Given the description of an element on the screen output the (x, y) to click on. 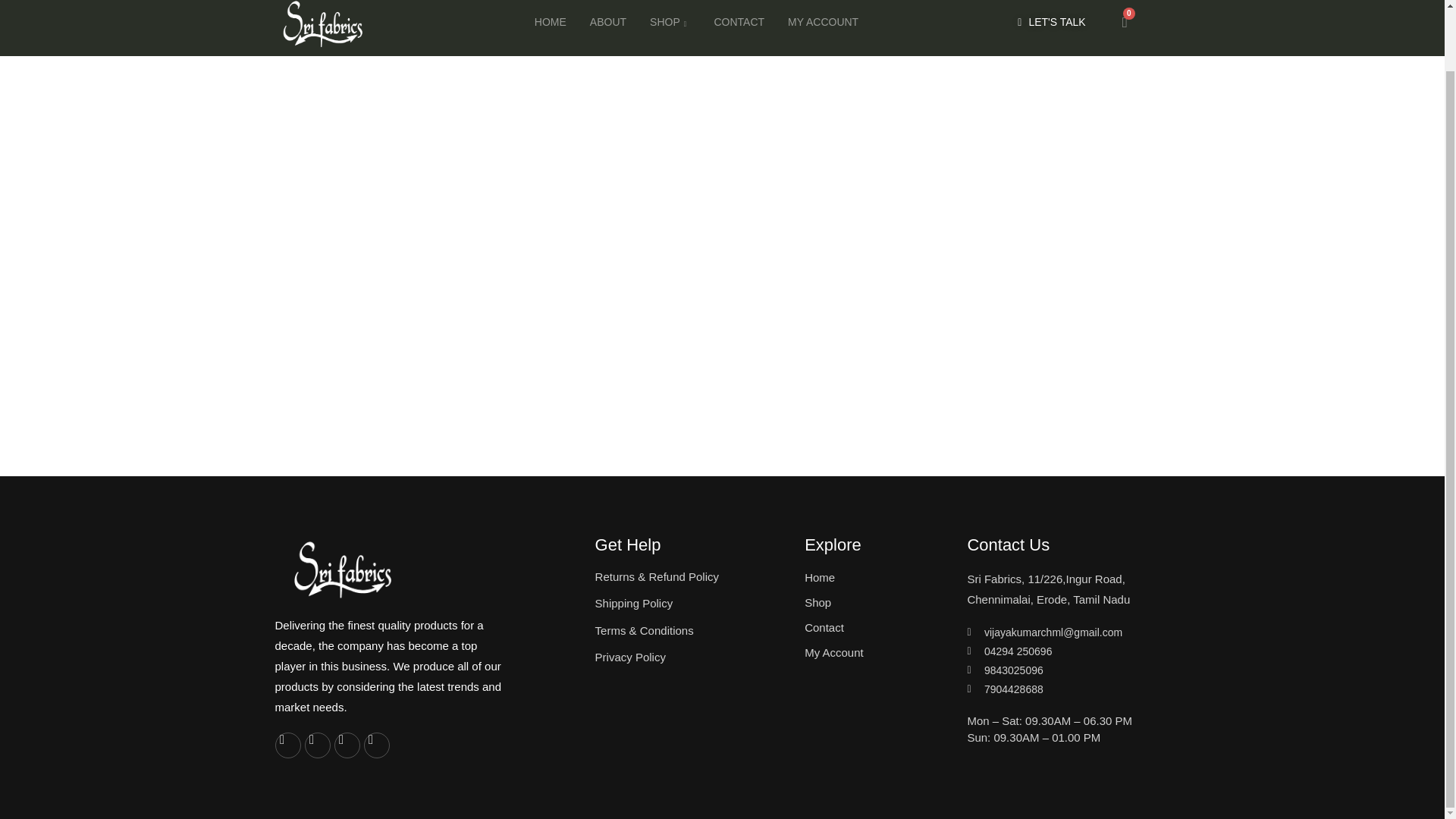
My Account (873, 652)
Contact (873, 628)
Privacy Policy (692, 657)
MY ACCOUNT (818, 22)
CONTACT (734, 22)
Shipping Policy (692, 603)
SHOP (665, 22)
LET'S TALK (1050, 21)
0 (1124, 21)
Home (873, 577)
Shop (873, 602)
ABOUT (603, 22)
HOME (545, 22)
